Given the description of an element on the screen output the (x, y) to click on. 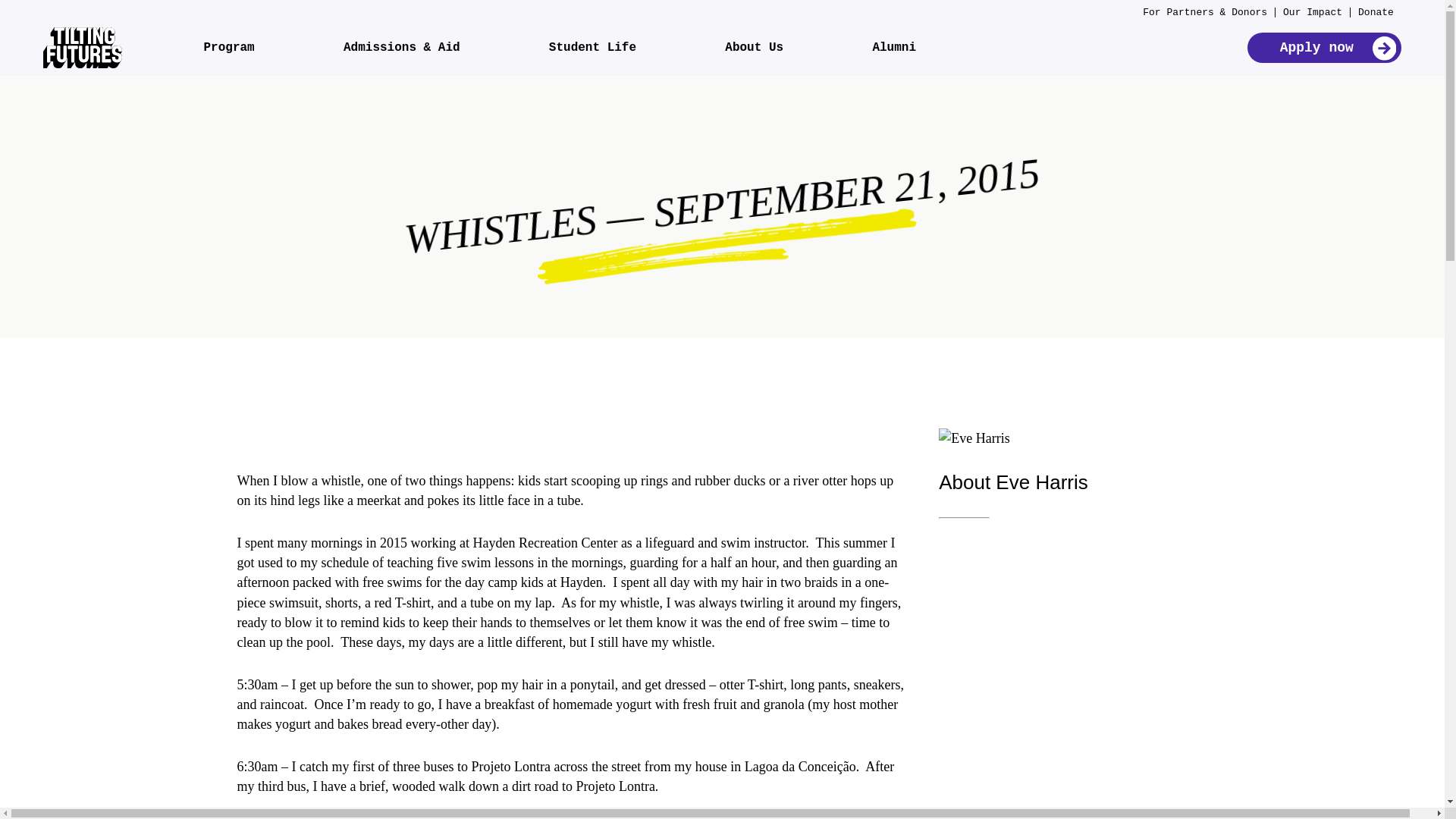
About Us (754, 47)
Student Life (592, 47)
Donate (1375, 12)
Our Impact (1312, 12)
Program (228, 47)
